Given the description of an element on the screen output the (x, y) to click on. 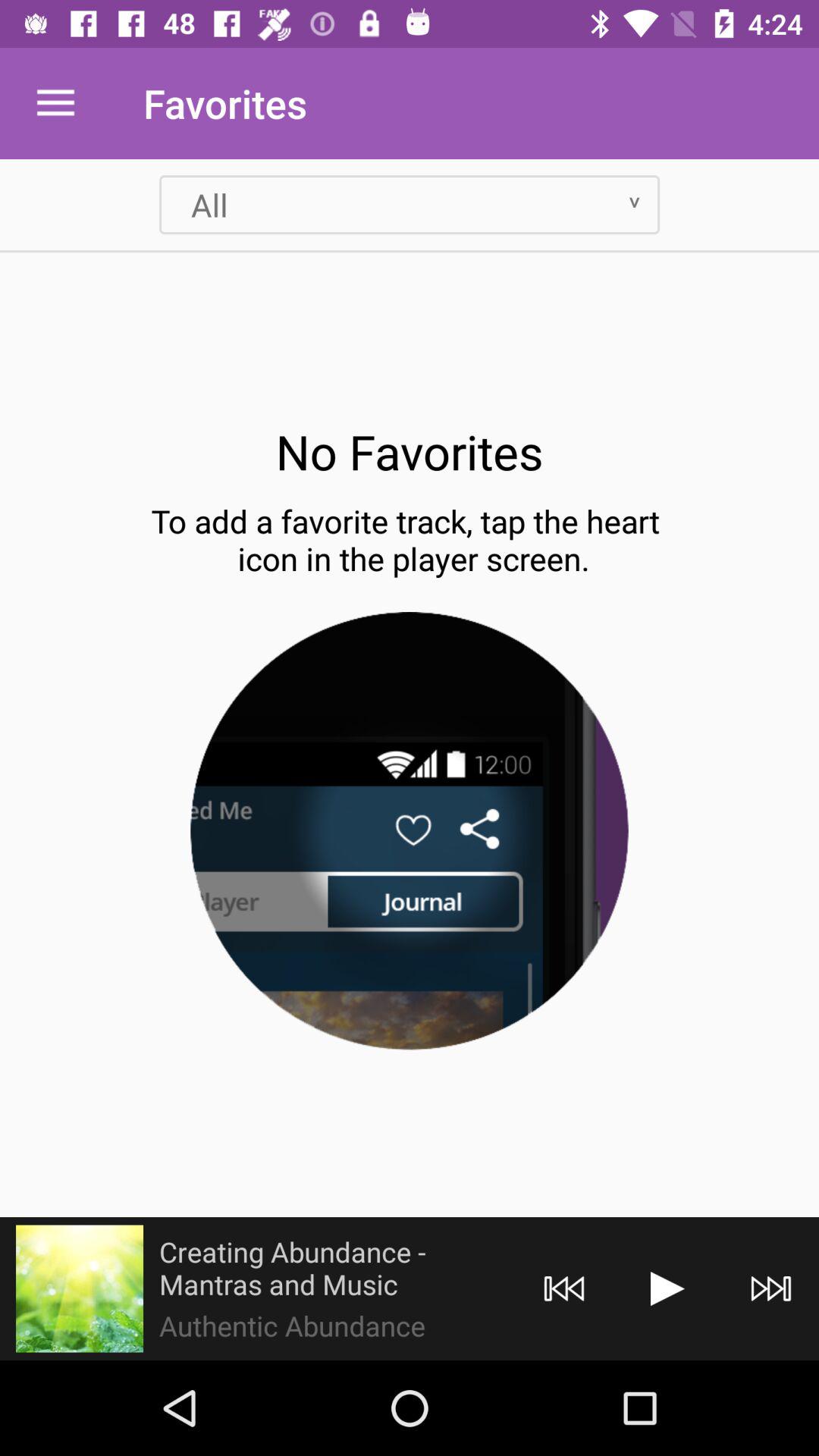
choose the item to the left of favorites icon (55, 103)
